Given the description of an element on the screen output the (x, y) to click on. 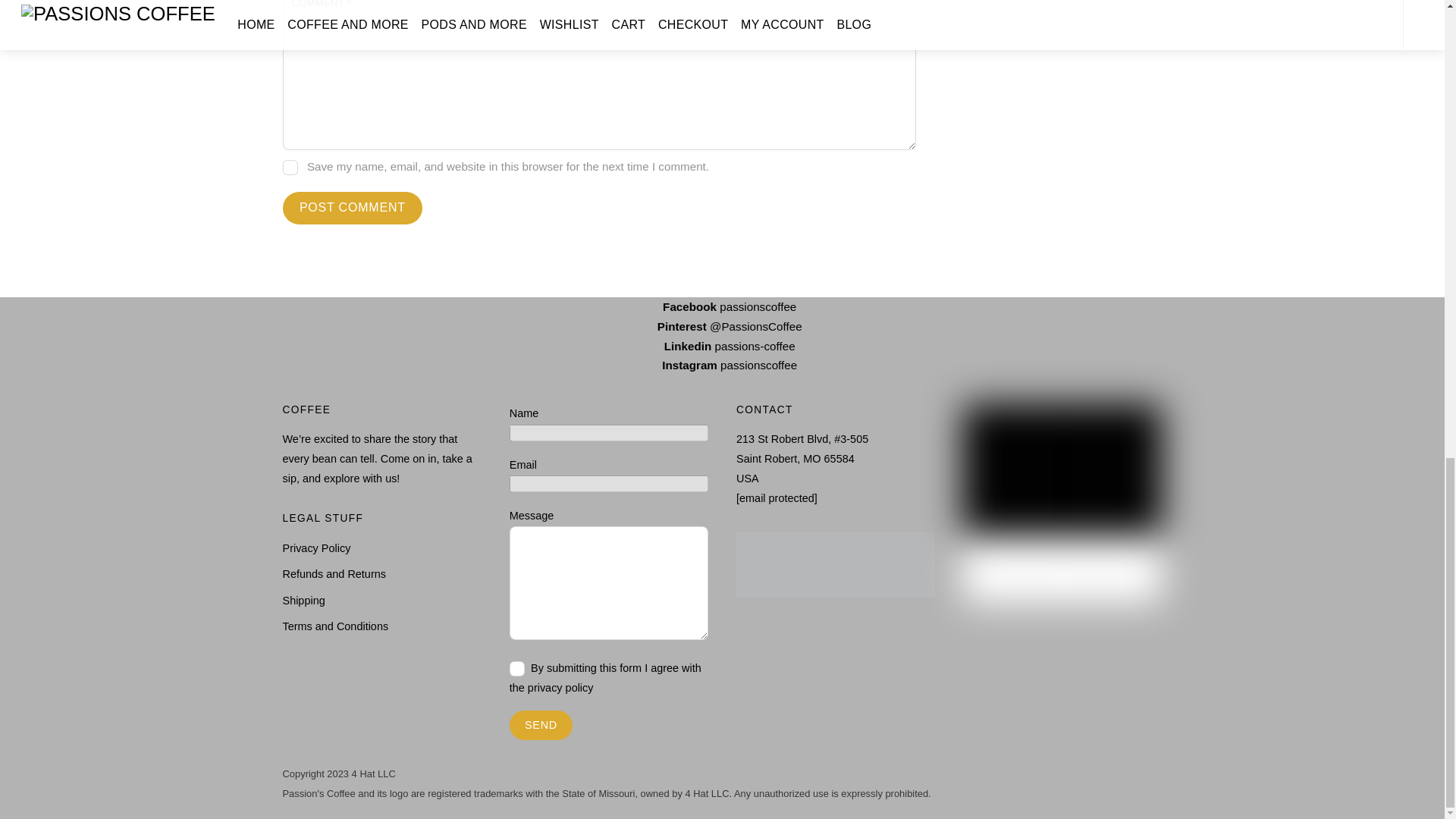
Refunds and Returns (333, 573)
Shipping (303, 600)
Linkedin passions-coffee (721, 345)
Post Comment (352, 208)
Instagram passionscoffee (721, 364)
yes (289, 167)
privacy policy (560, 687)
on (516, 668)
Facebook passionscoffee (721, 306)
Privacy Policy (316, 548)
